Given the description of an element on the screen output the (x, y) to click on. 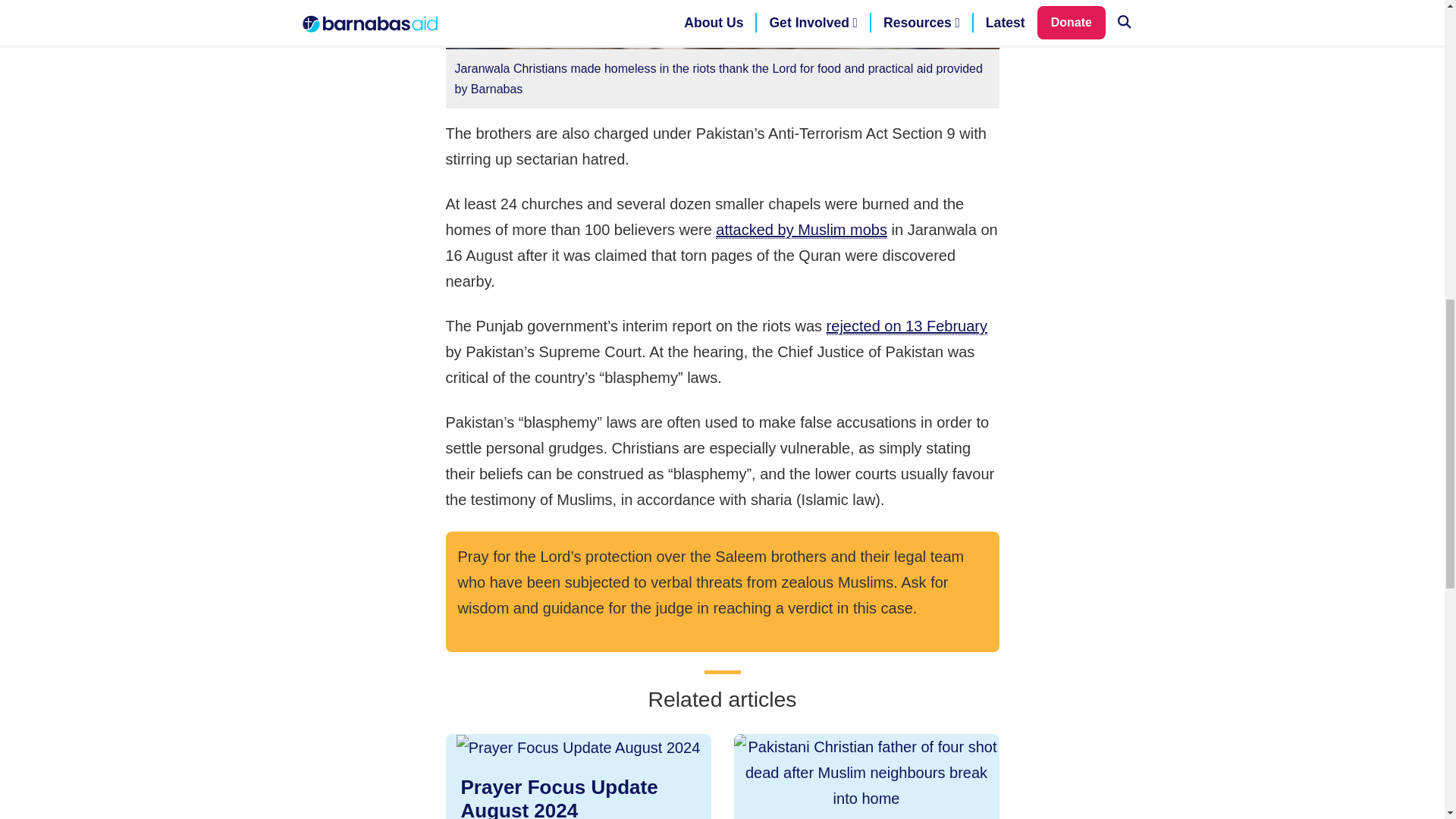
attacked by Muslim mobs (801, 230)
rejected on 13 February (578, 776)
